Given the description of an element on the screen output the (x, y) to click on. 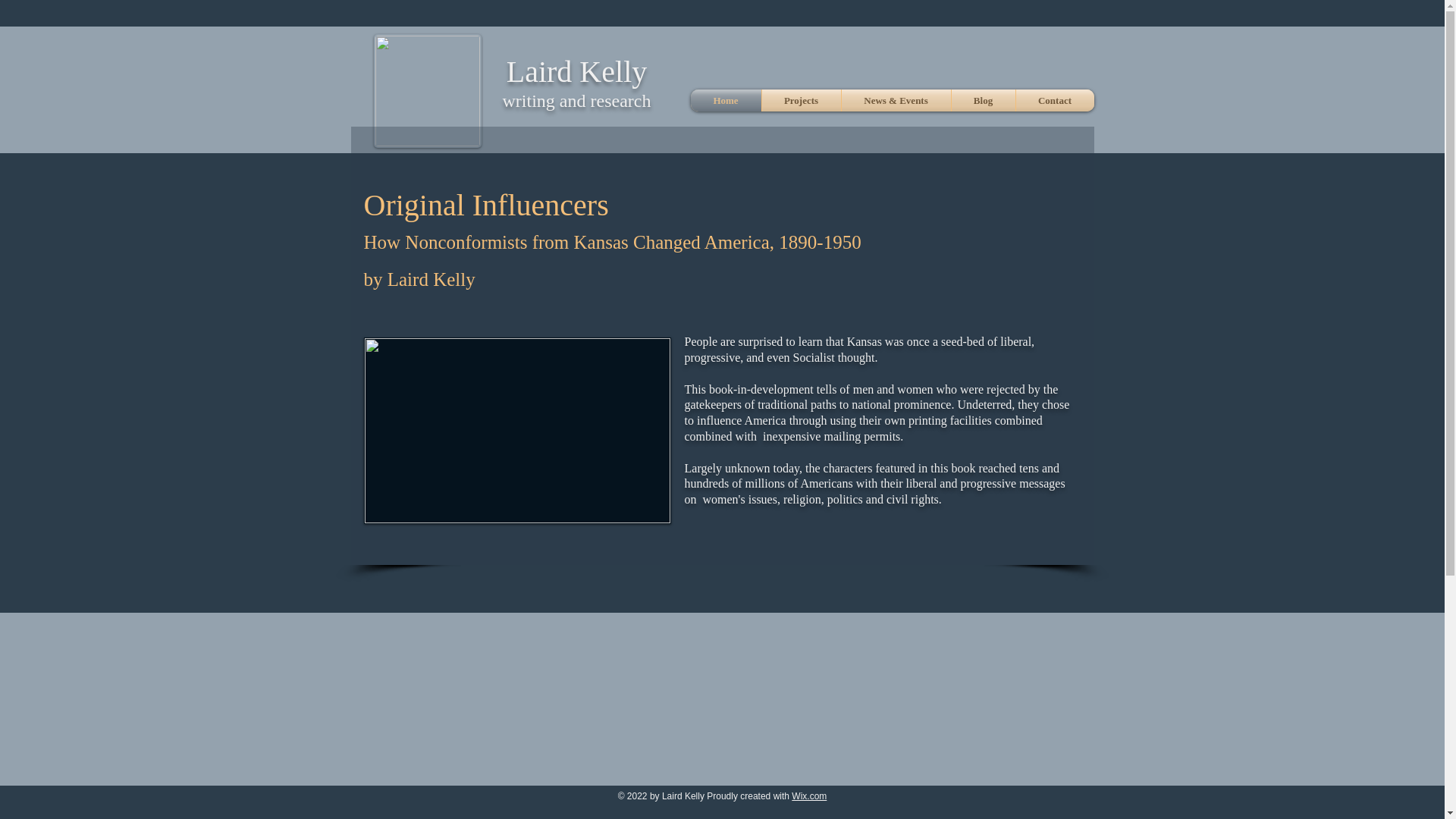
Blog (982, 100)
Contact (1055, 100)
Projects (800, 100)
Wix.com (809, 796)
Home (725, 100)
